Given the description of an element on the screen output the (x, y) to click on. 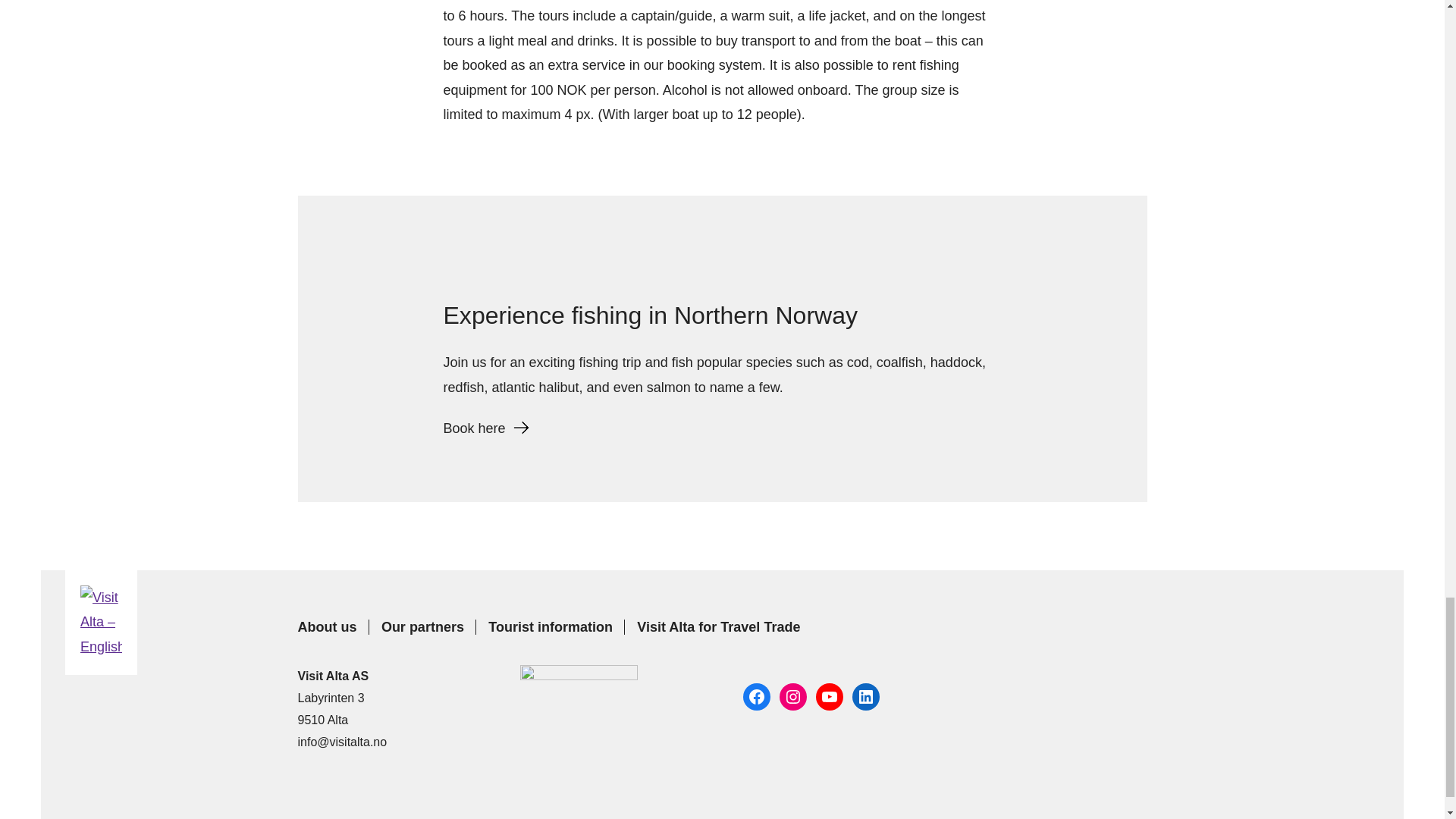
Instagram (792, 696)
Our partners (422, 626)
Tourist information (550, 626)
YouTube (829, 696)
About us (326, 626)
LinkedIn (865, 696)
Facebook (756, 696)
Book here (485, 428)
Visit Alta for Travel Trade (718, 626)
